Given the description of an element on the screen output the (x, y) to click on. 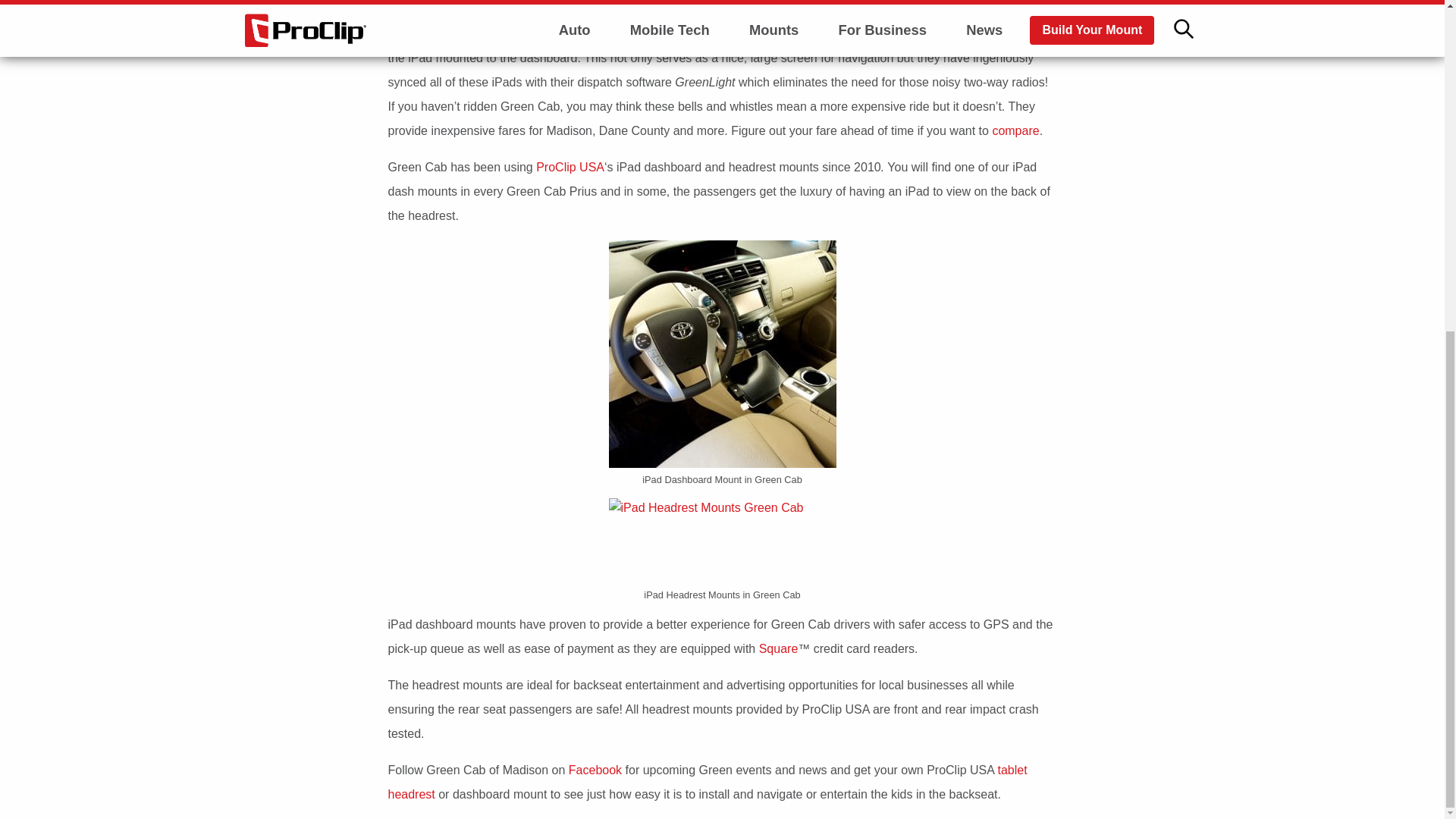
Tablet Crash Tested Headrest Mounts (707, 781)
Green Cab of Madison Facebook (595, 769)
Green Cab of Madison Fare Calculator (1013, 130)
Square Inc credit card reader (777, 648)
ProClip USA (569, 166)
